Given the description of an element on the screen output the (x, y) to click on. 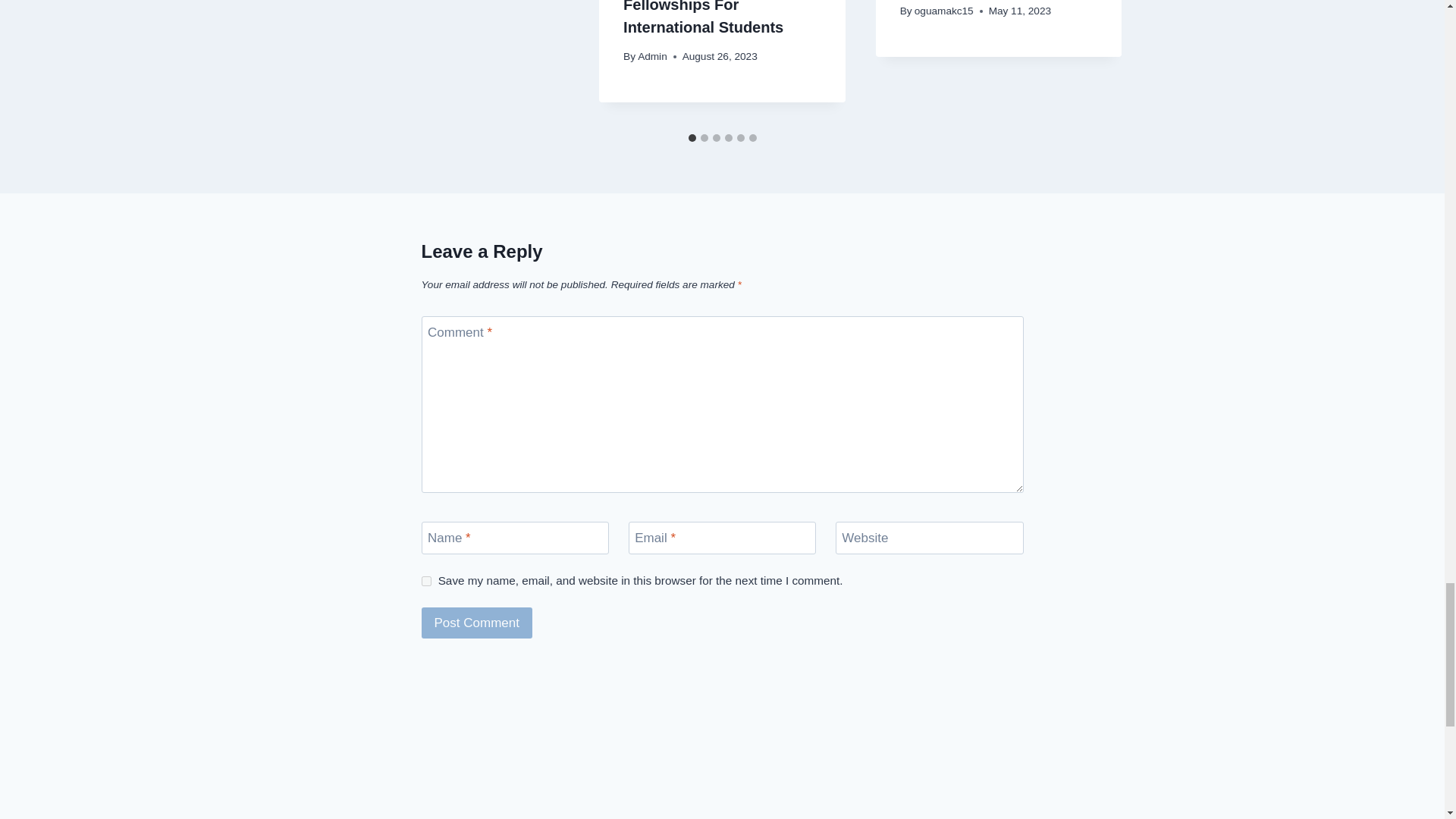
yes (426, 581)
Post Comment (477, 622)
